Given the description of an element on the screen output the (x, y) to click on. 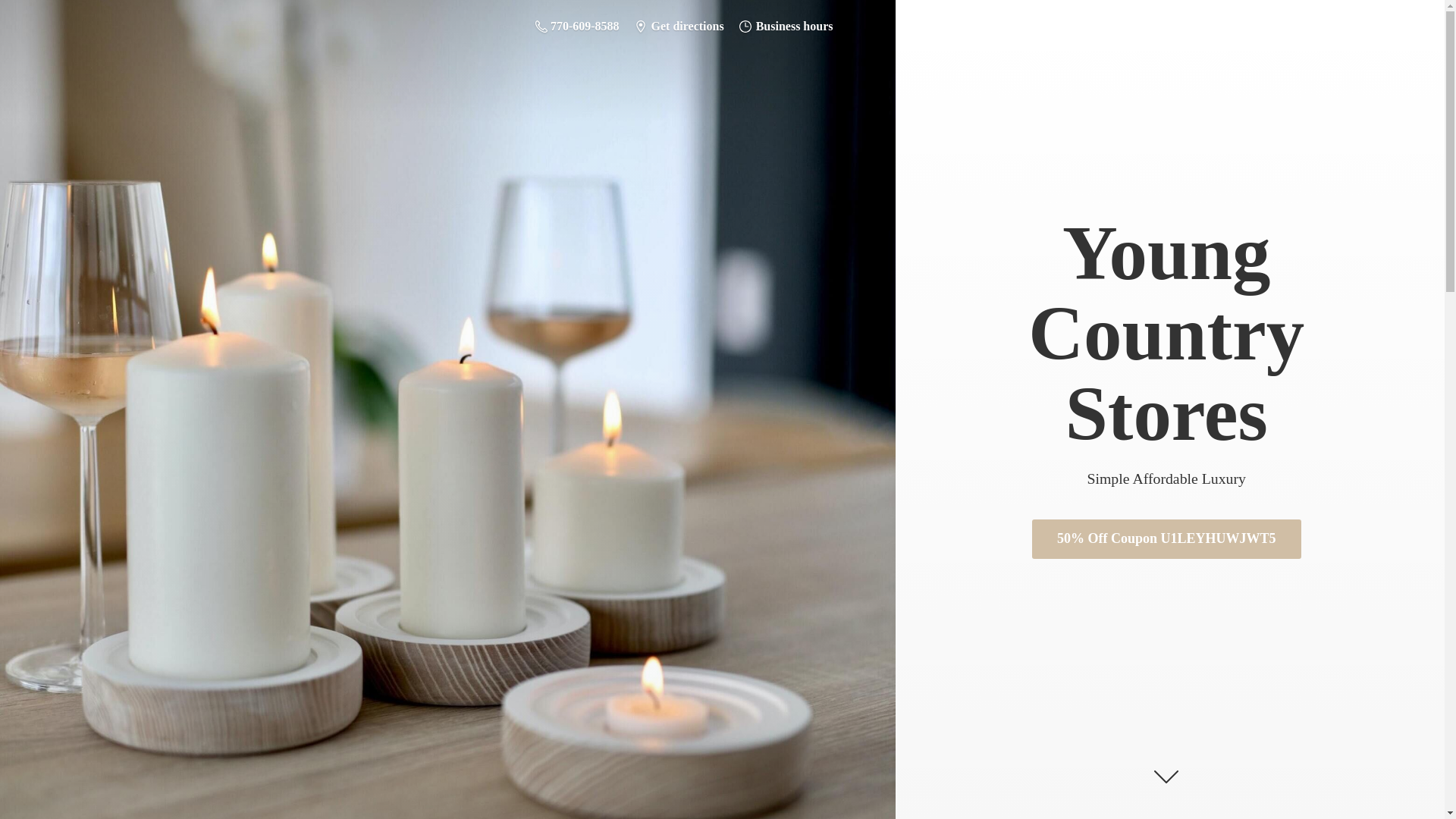
770-609-8588 (577, 26)
Get directions (679, 26)
Business hours (786, 26)
